Given the description of an element on the screen output the (x, y) to click on. 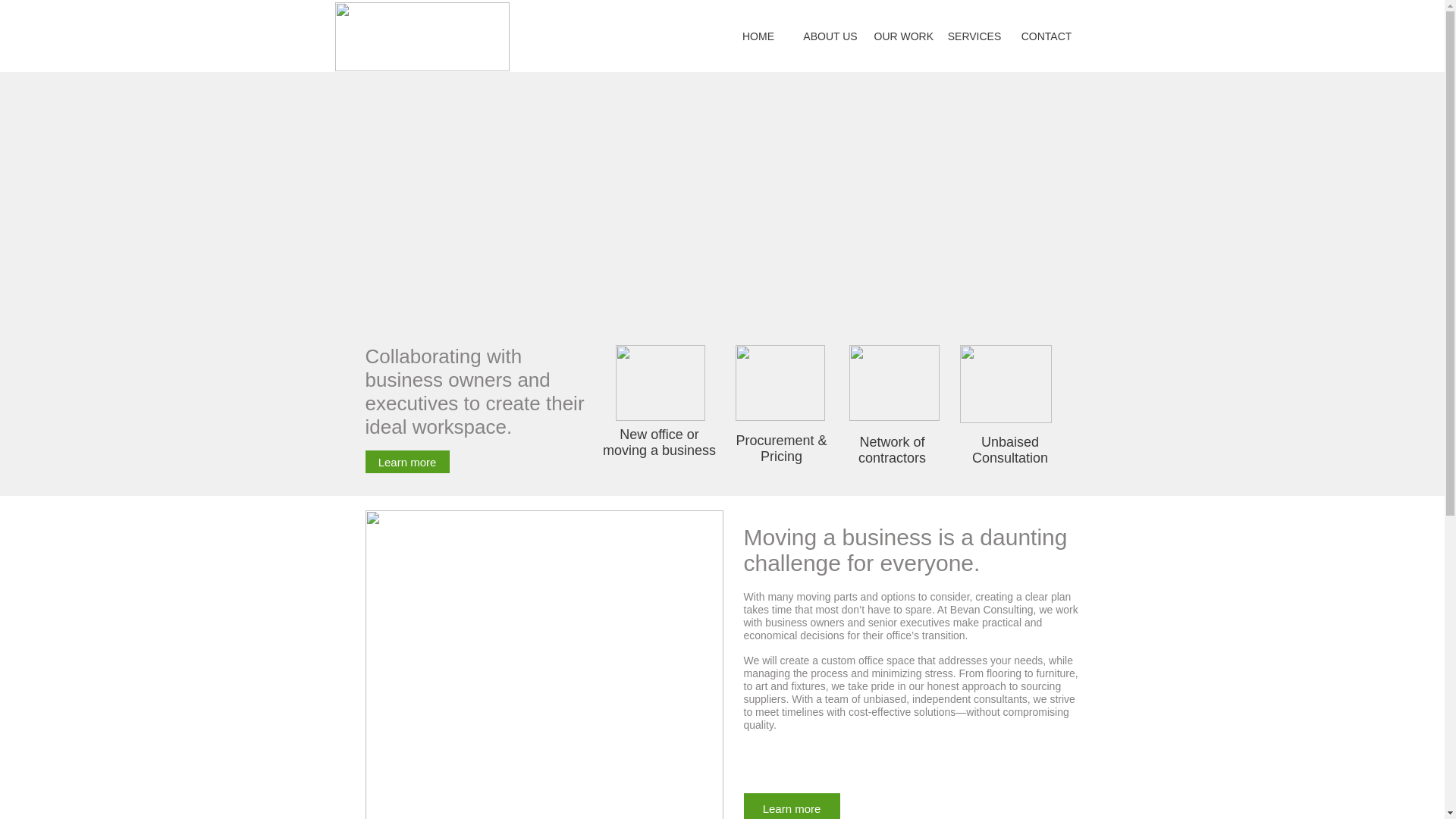
ABOUT US (830, 36)
Learn more (407, 461)
Learn more (791, 806)
OUR WORK (901, 36)
CONTACT (1045, 36)
SERVICES (974, 36)
contractors.jpg (893, 382)
HOME (757, 36)
